Given the description of an element on the screen output the (x, y) to click on. 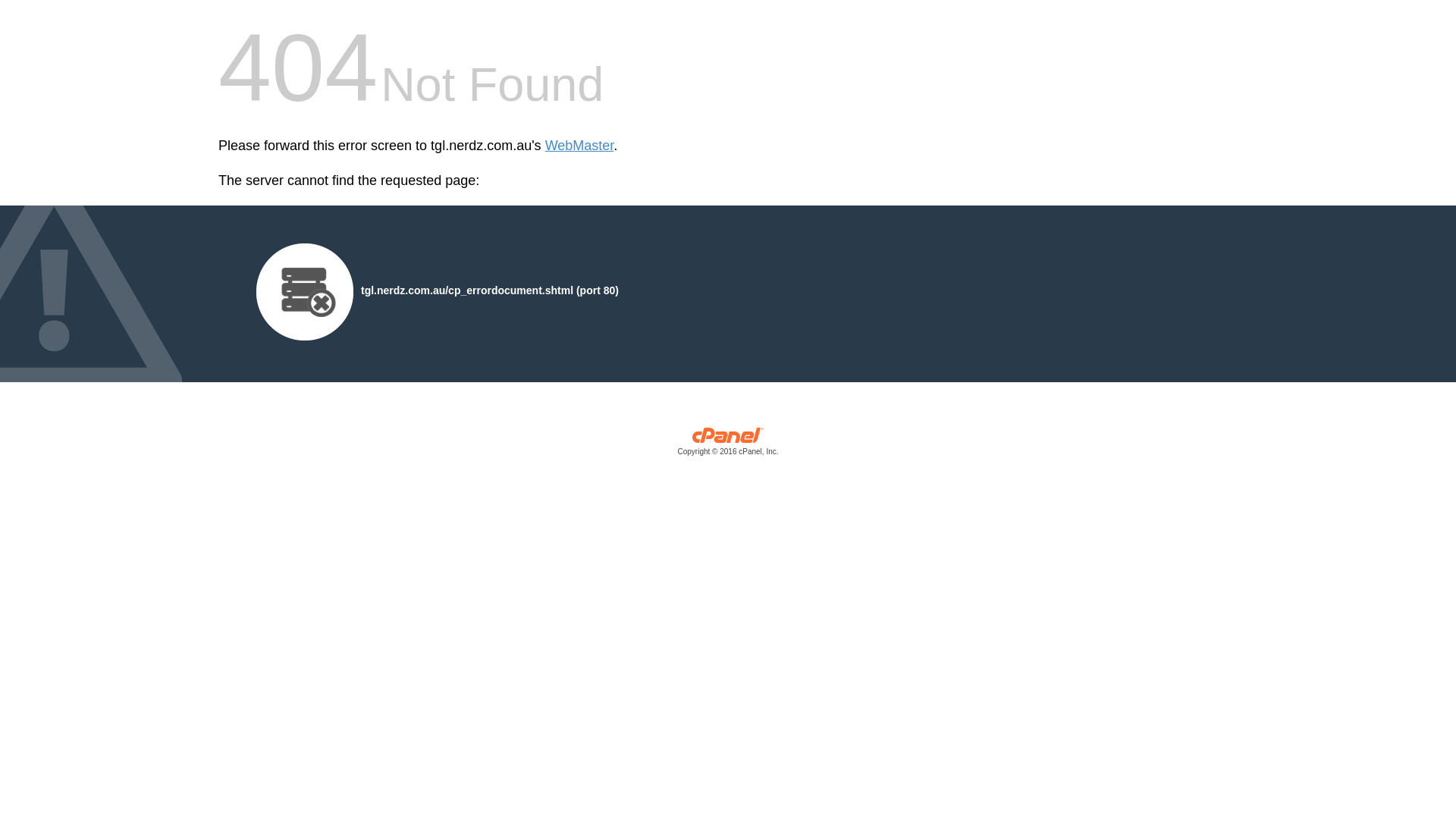
WebMaster Element type: text (579, 145)
